Given the description of an element on the screen output the (x, y) to click on. 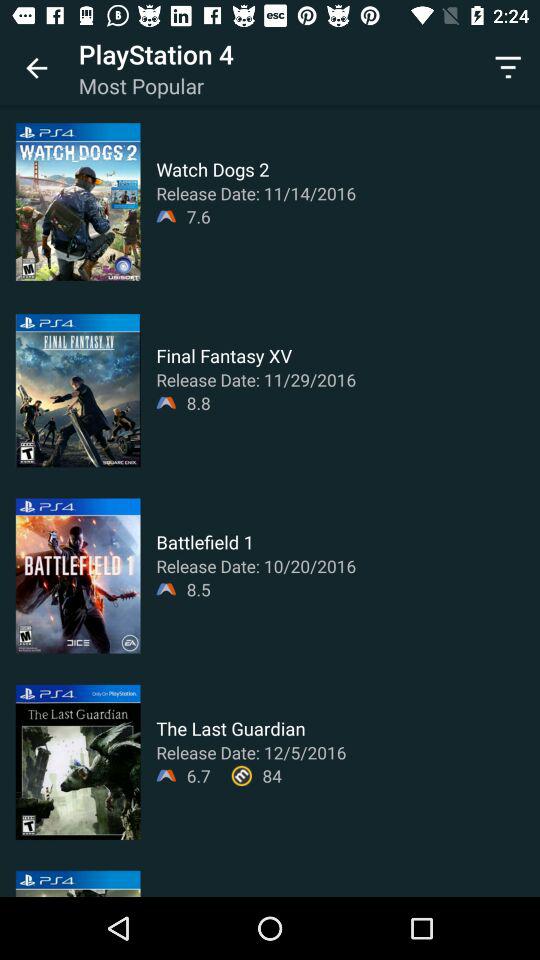
tap icon to the left of playstation 4 icon (36, 68)
